Given the description of an element on the screen output the (x, y) to click on. 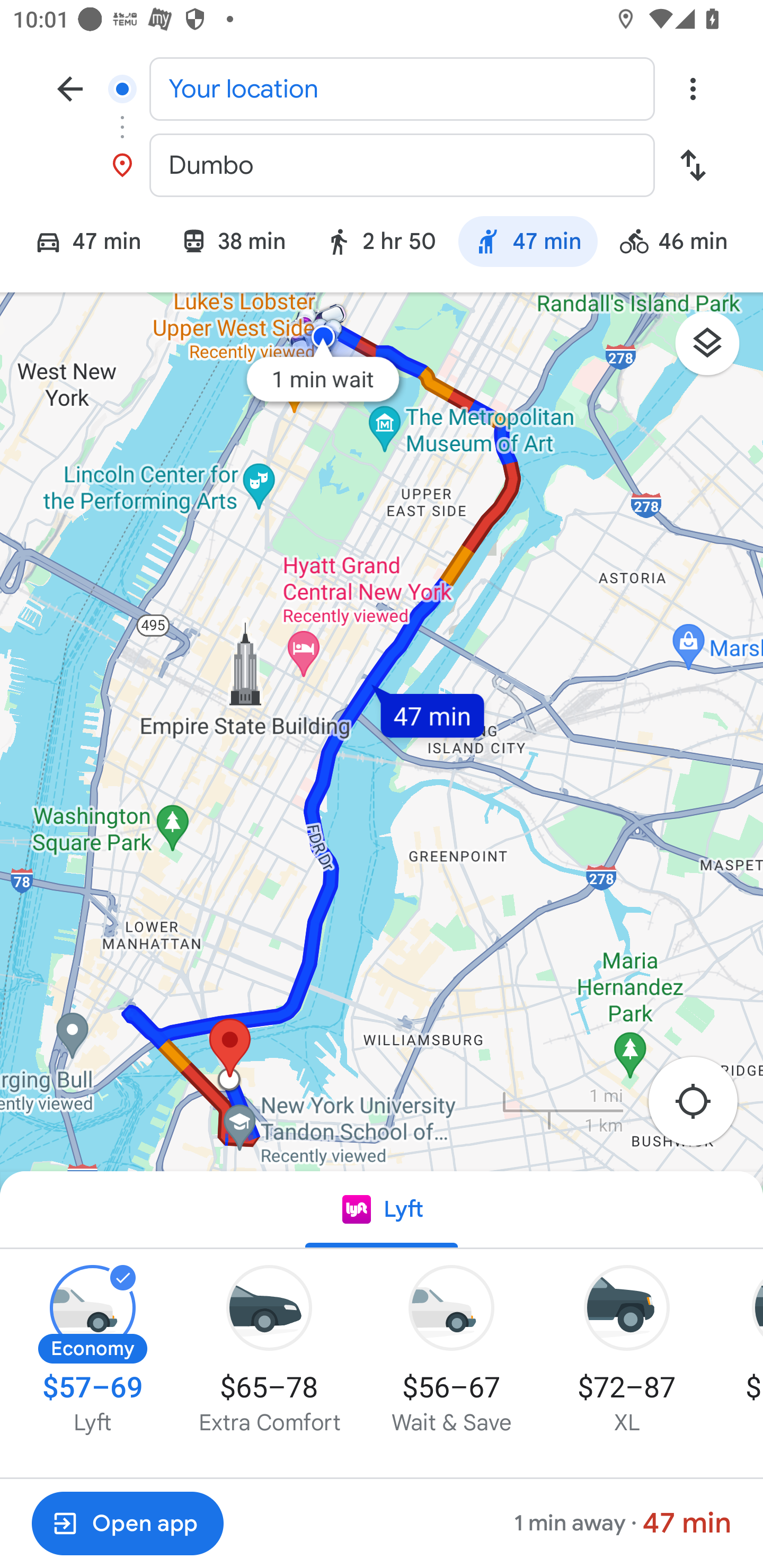
Navigate up (70, 88)
Your location Start location, Your location (381, 88)
Overflow menu (692, 88)
Dumbo Destination, Dumbo (381, 165)
Swap start and destination (692, 165)
Driving mode: 47 min 47 min (80, 244)
Transit mode: 38 min 38 min (232, 244)
Walking mode: 2 hr 50 2 hr 50 (380, 244)
Bicycling mode: 46 min 46 min (682, 244)
Layers (716, 349)
Re-center map to your location (702, 1106)
Lyft (381, 1209)
Extra seats
XL
$72 to $87 $72–87 $72 to $87 XL (627, 1350)
Open app Open app Open app (127, 1522)
